Given the description of an element on the screen output the (x, y) to click on. 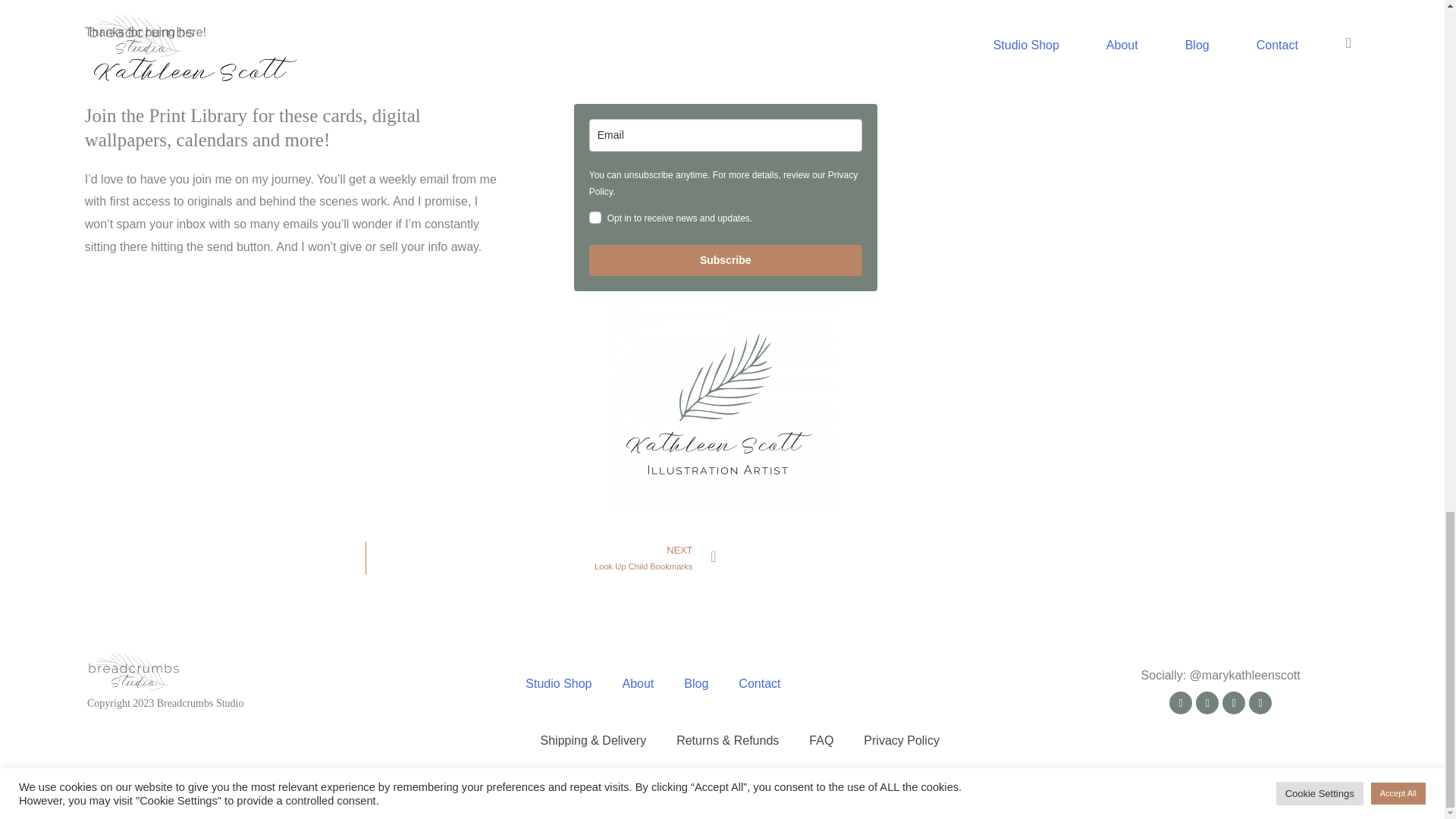
Subscribe (725, 260)
